Given the description of an element on the screen output the (x, y) to click on. 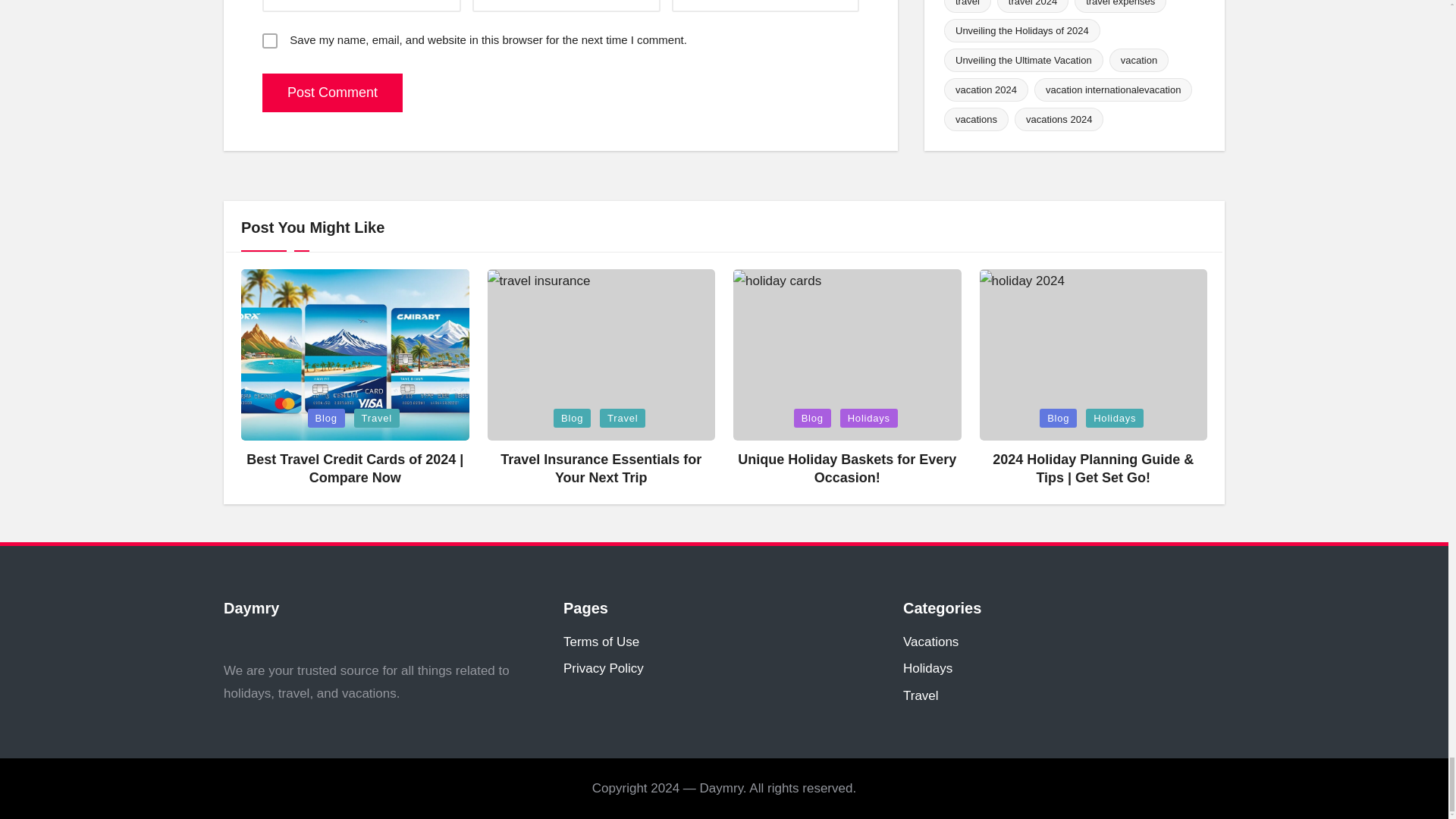
Post Comment (332, 92)
yes (270, 40)
